Given the description of an element on the screen output the (x, y) to click on. 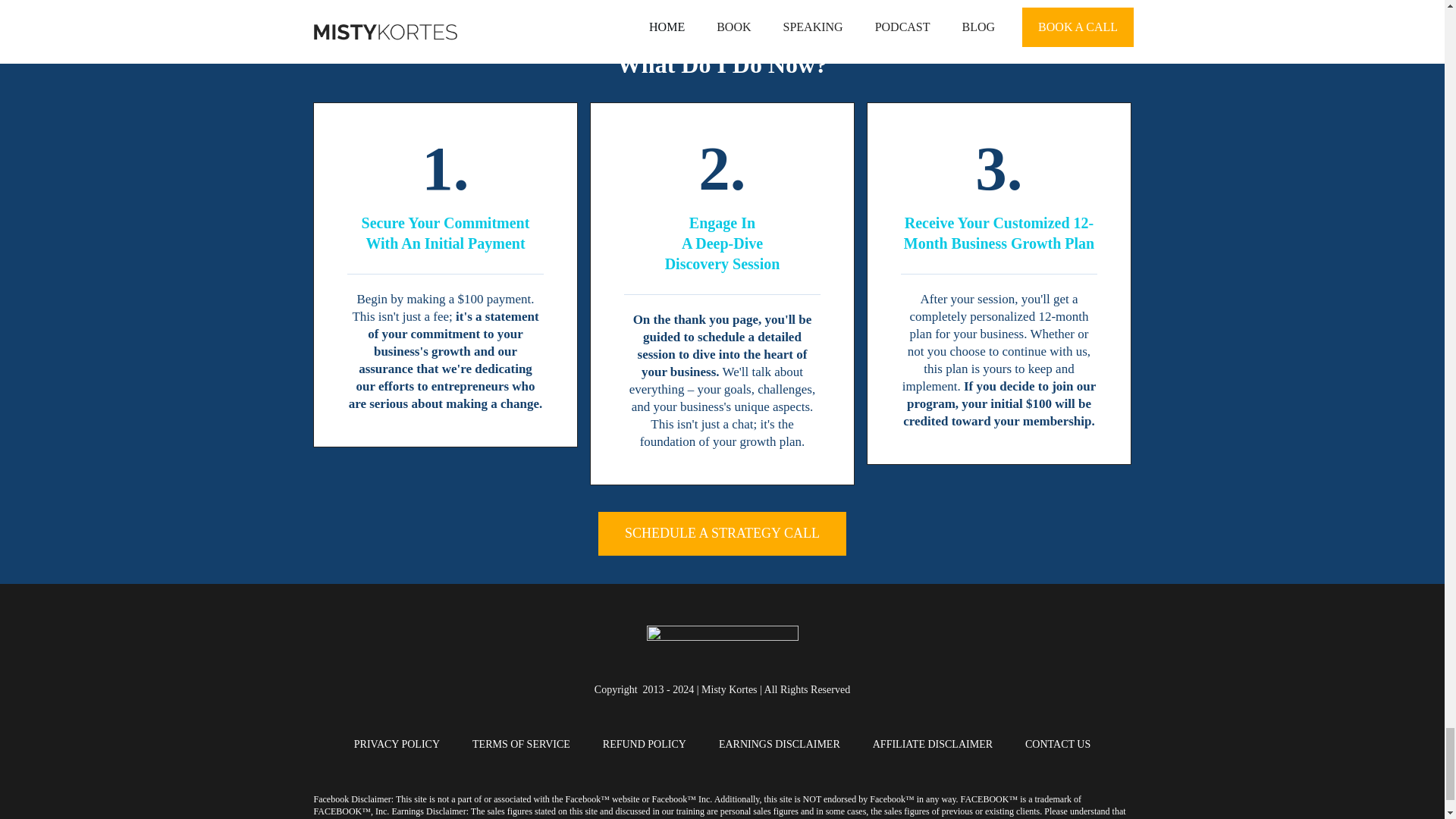
AFFILIATE DISCLAIMER (932, 744)
TERMS OF SERVICE (520, 744)
REFUND POLICY (643, 744)
PRIVACY POLICY (396, 744)
SCHEDULE A STRATEGY CALL (721, 533)
CONTACT US (1057, 744)
EARNINGS DISCLAIMER (779, 744)
